Given the description of an element on the screen output the (x, y) to click on. 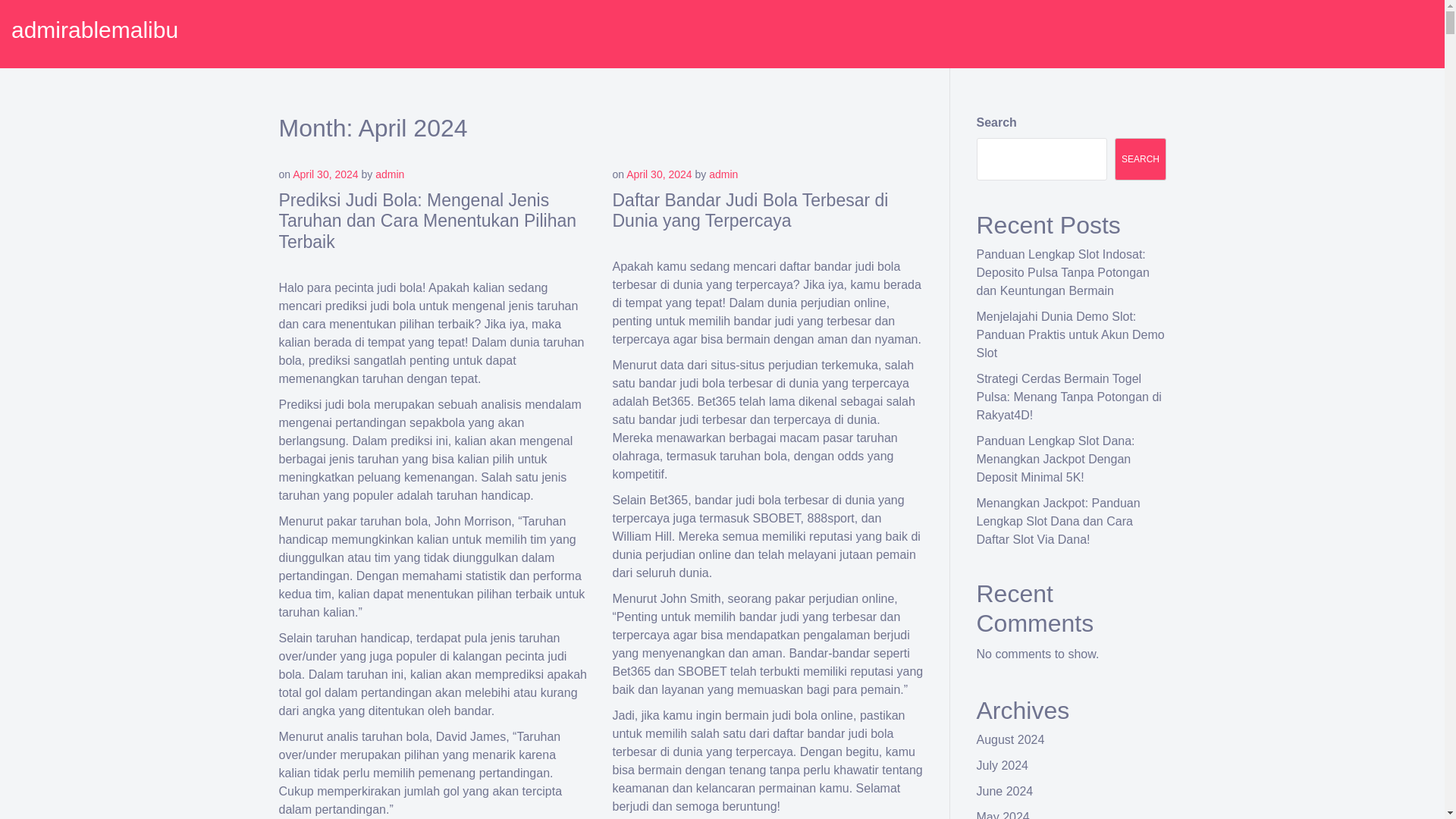
admin (723, 174)
Daftar Bandar Judi Bola Terbesar di Dunia yang Terpercaya (750, 210)
admirablemalibu (94, 29)
admin (389, 174)
April 30, 2024 (658, 174)
April 30, 2024 (325, 174)
